Given the description of an element on the screen output the (x, y) to click on. 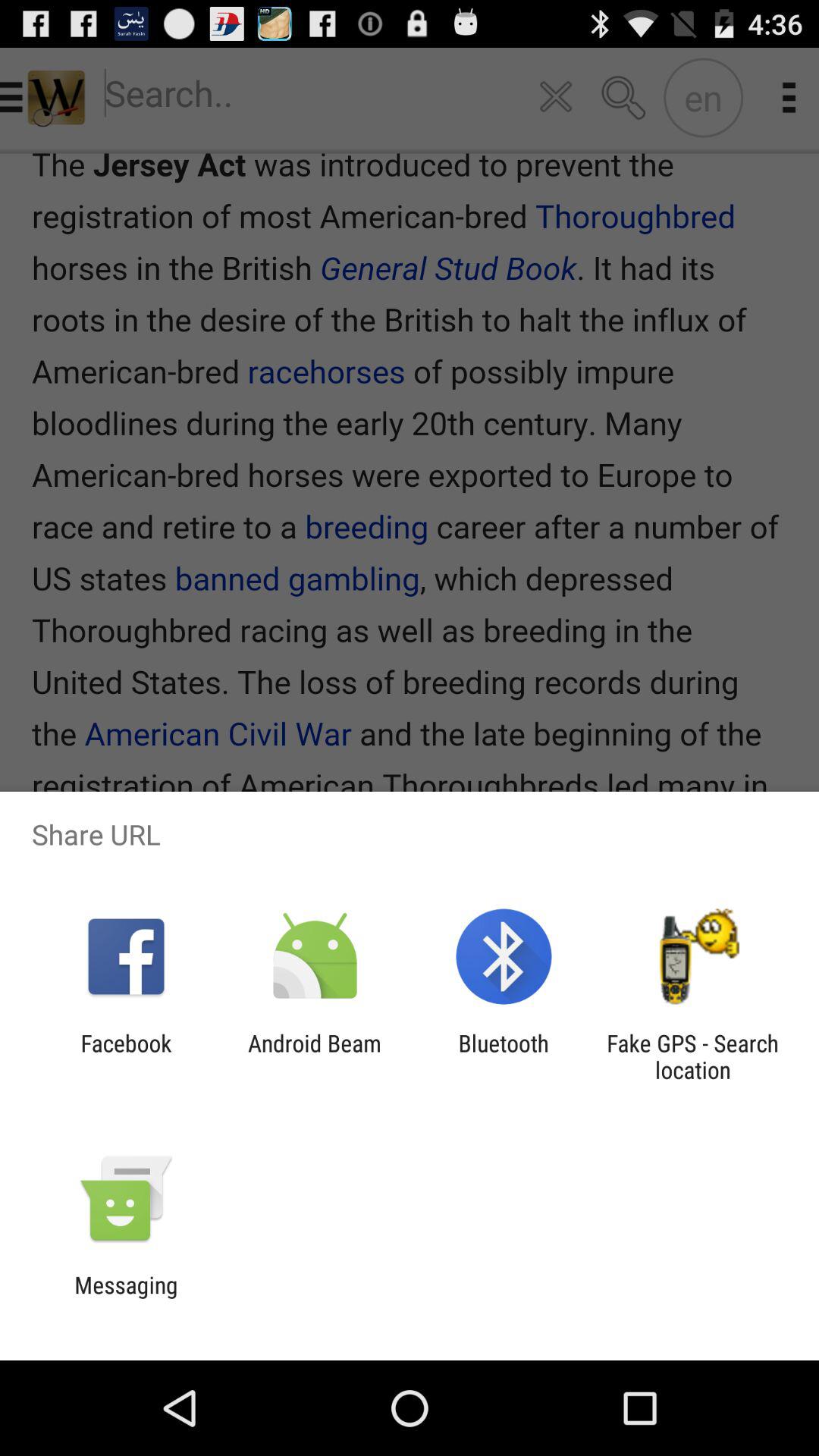
click icon next to the android beam icon (503, 1056)
